Given the description of an element on the screen output the (x, y) to click on. 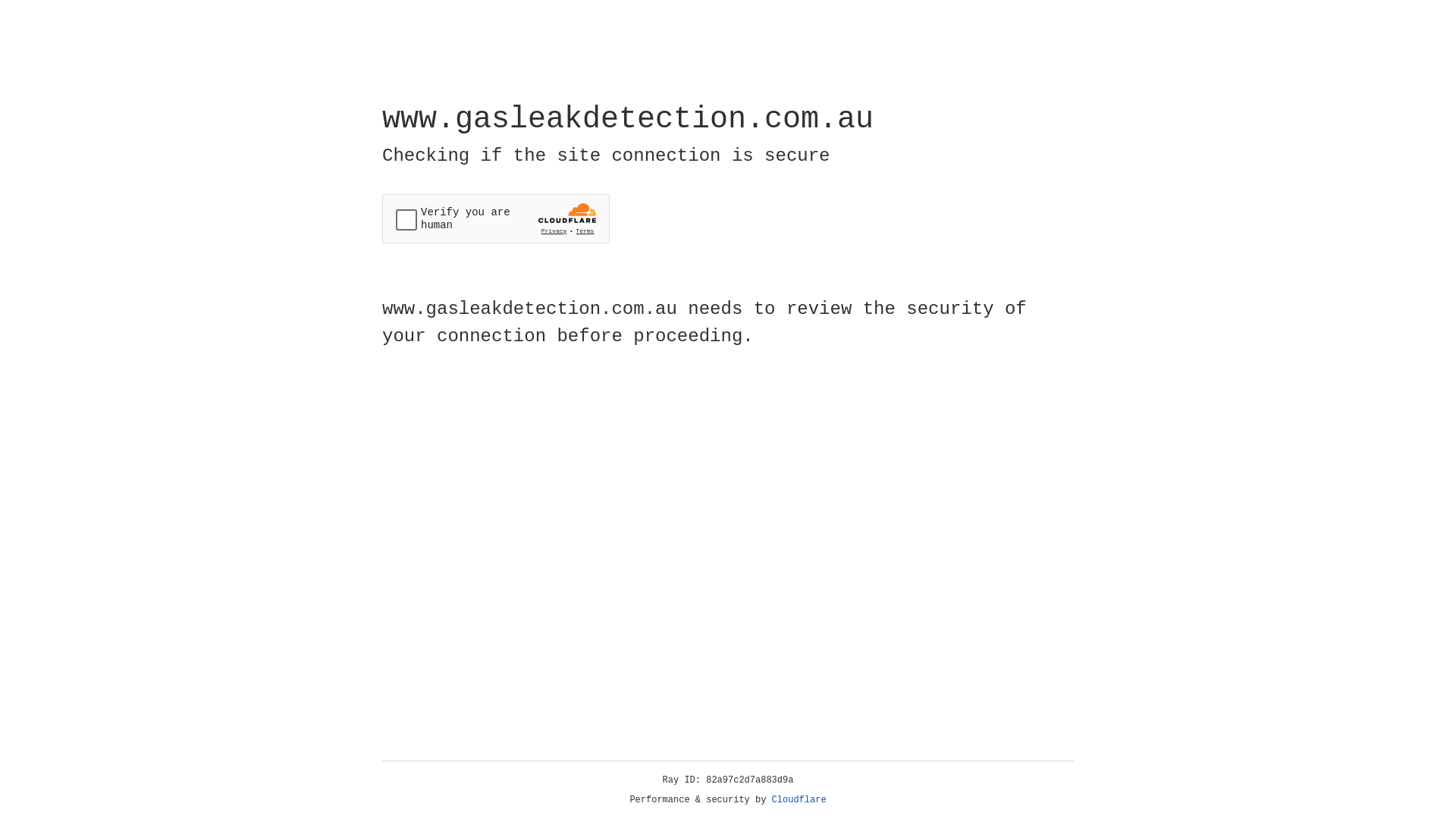
Cloudflare Element type: text (798, 799)
Widget containing a Cloudflare security challenge Element type: hover (495, 218)
